Given the description of an element on the screen output the (x, y) to click on. 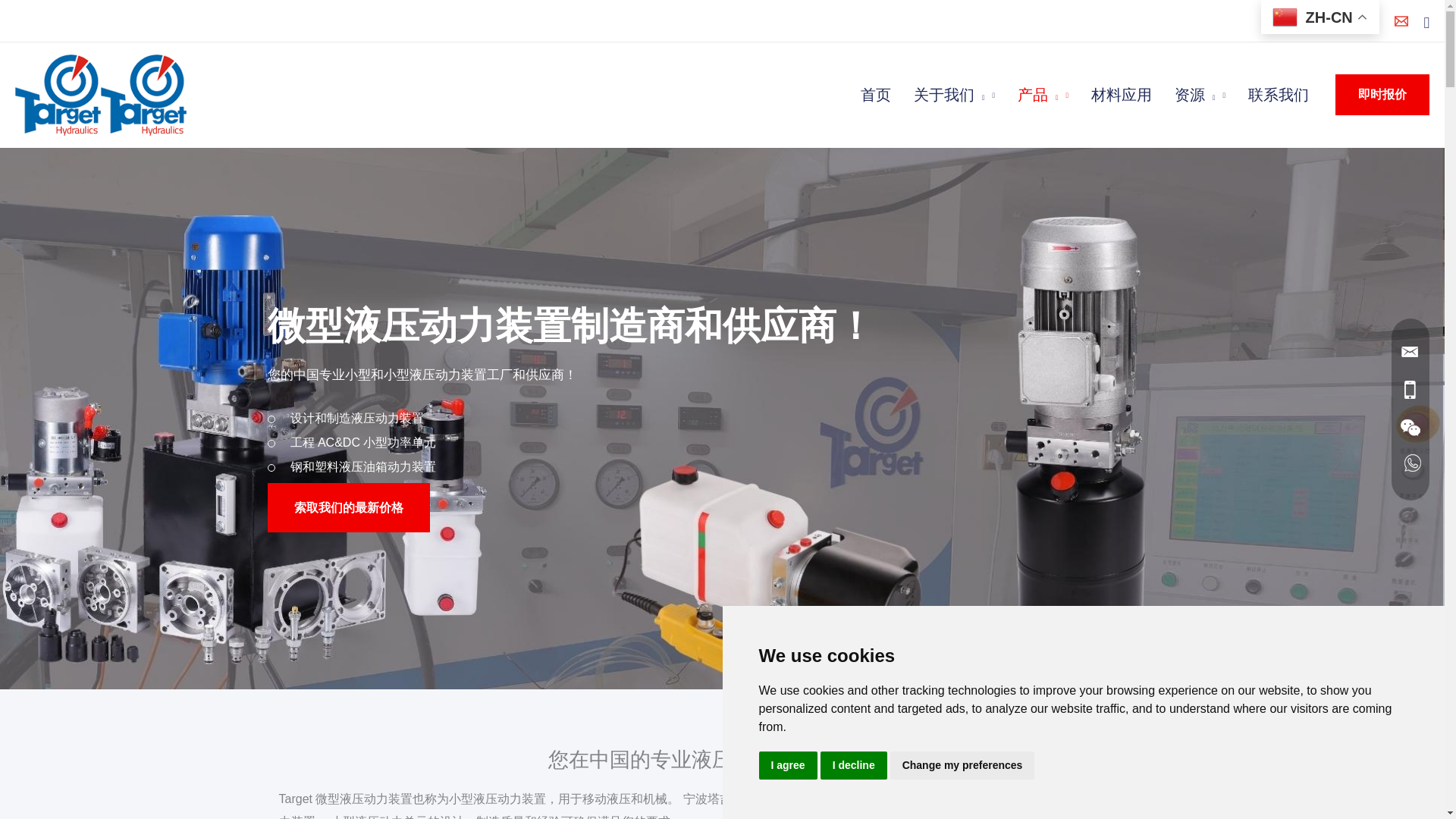
I decline (853, 765)
Change my preferences (962, 765)
I agree (787, 765)
